Given the description of an element on the screen output the (x, y) to click on. 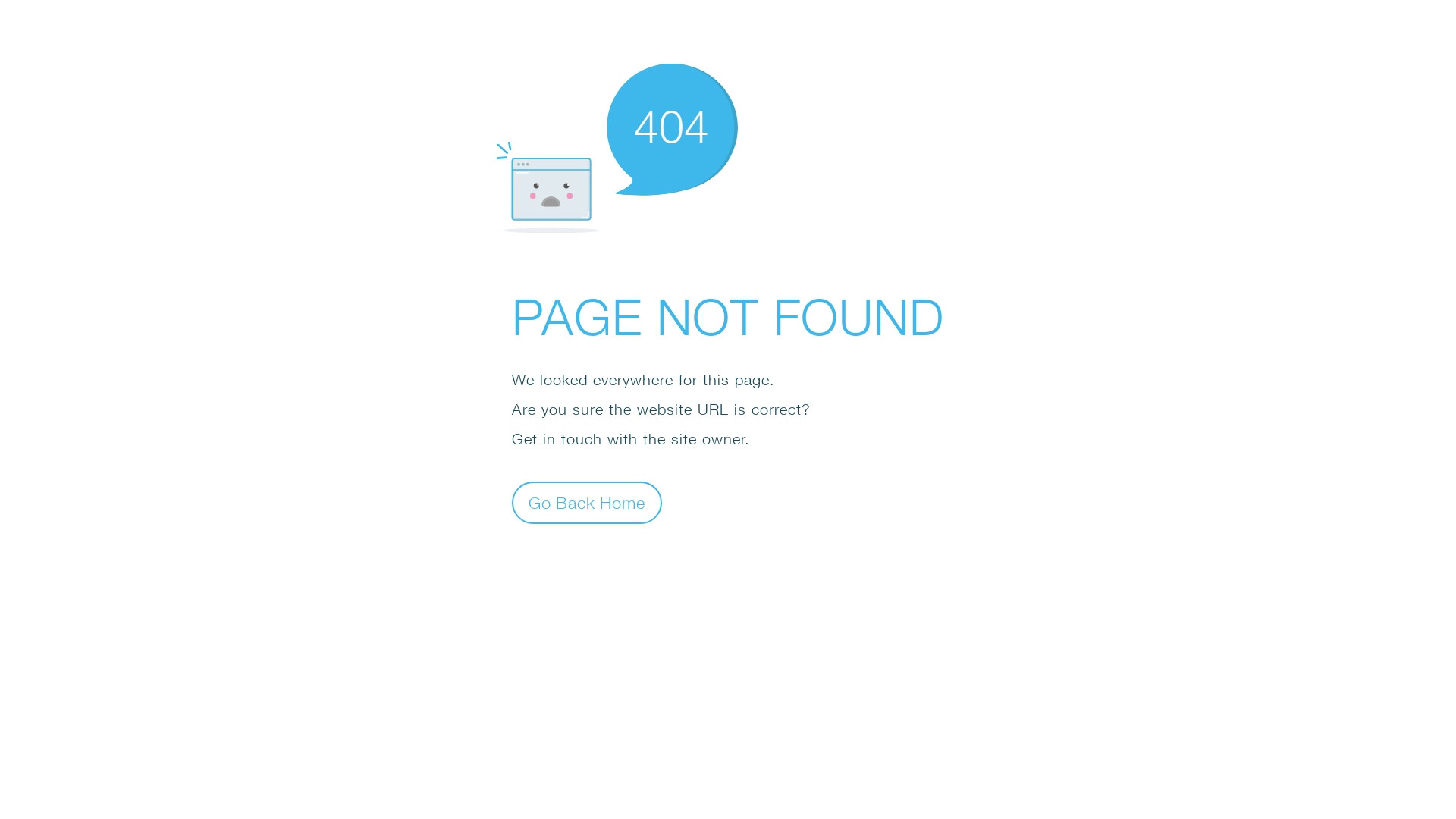
Go Back Home Element type: text (586, 502)
